Given the description of an element on the screen output the (x, y) to click on. 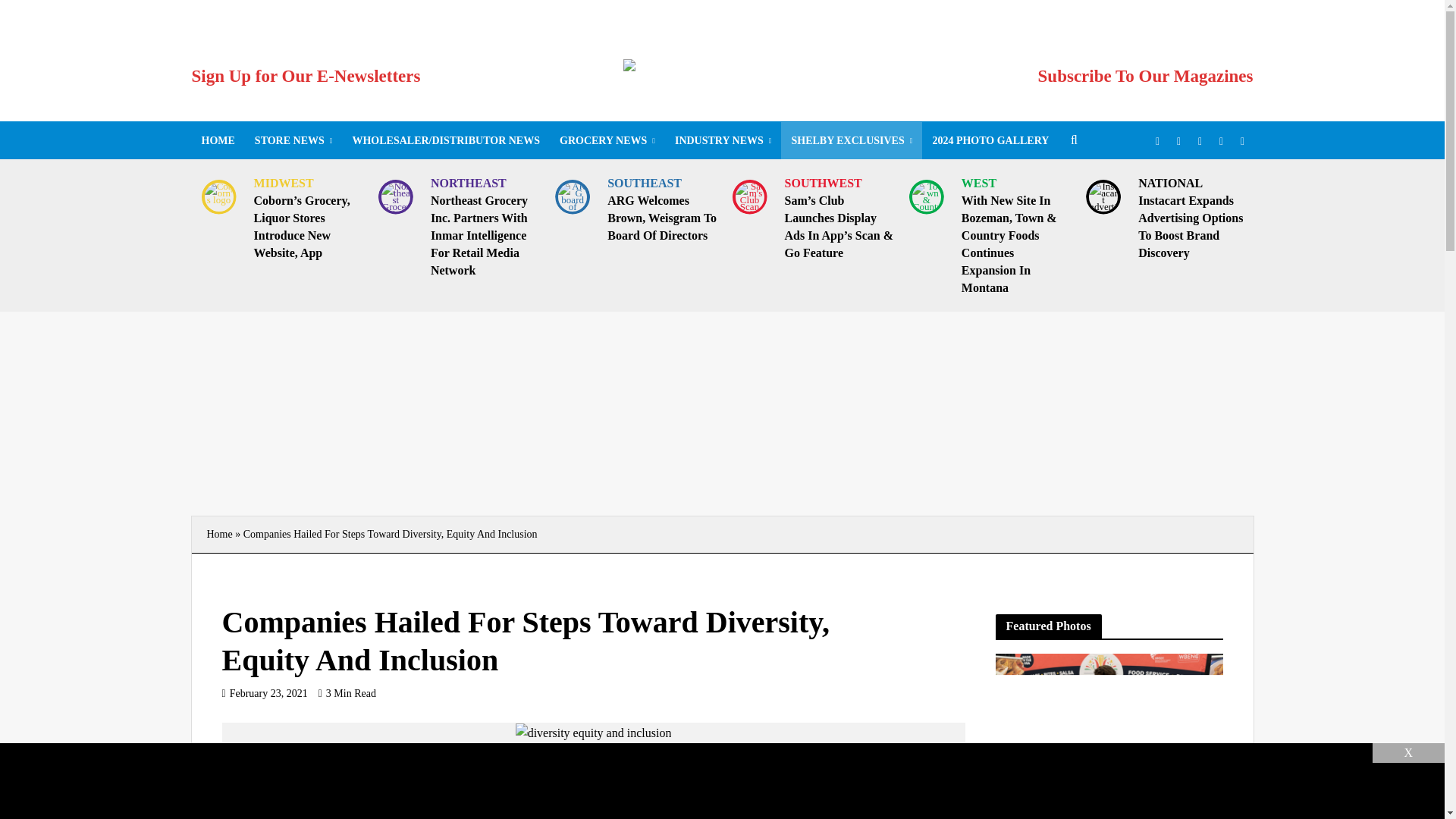
Sign Up for Our E-Newsletters (305, 76)
SHELBY EXCLUSIVES (850, 140)
HOME (217, 140)
STORE NEWS (293, 140)
GROCERY NEWS (607, 140)
Subscribe To Our Magazines (1145, 76)
INDUSTRY NEWS (723, 140)
